Given the description of an element on the screen output the (x, y) to click on. 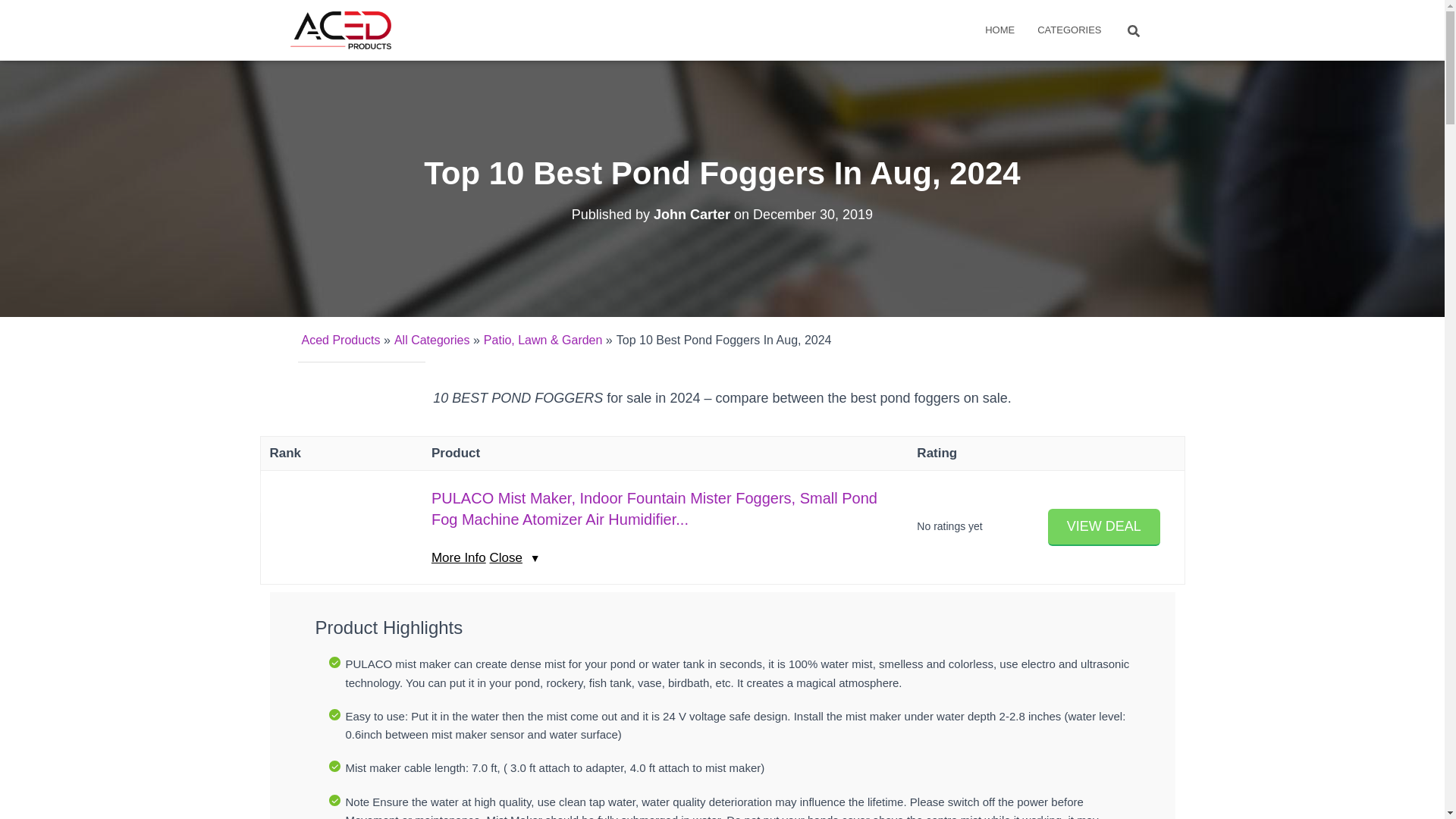
CATEGORIES (1069, 30)
Aced Products (340, 339)
HOME (1000, 30)
VIEW DEAL (1104, 527)
All Categories (432, 339)
Home (1000, 30)
John Carter (691, 214)
Aced Products (341, 30)
